Given the description of an element on the screen output the (x, y) to click on. 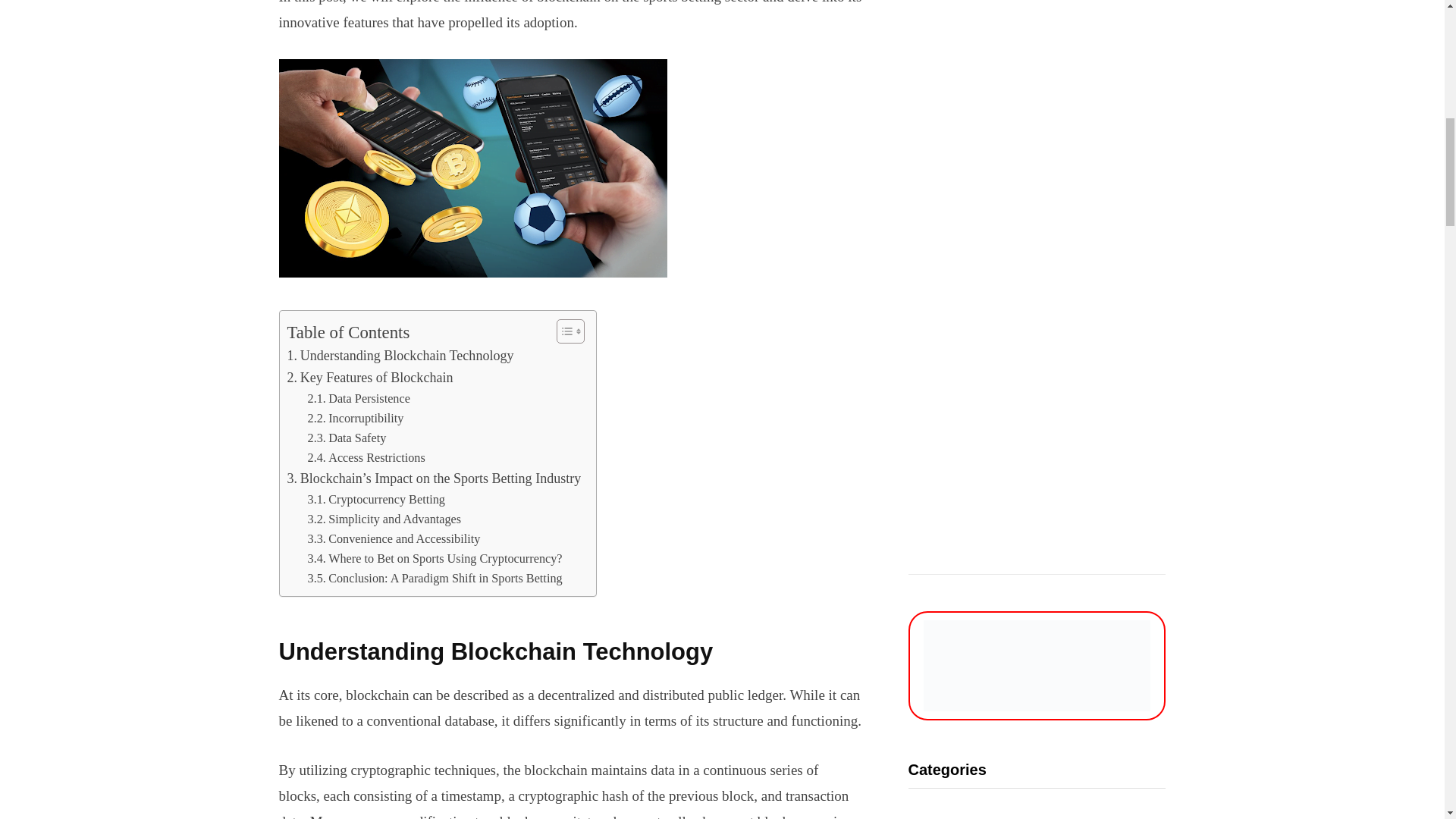
Understanding Blockchain Technology (399, 355)
Key Features of Blockchain (369, 377)
Data Safety (347, 437)
Incorruptibility (355, 418)
Data Persistence (358, 398)
